Given the description of an element on the screen output the (x, y) to click on. 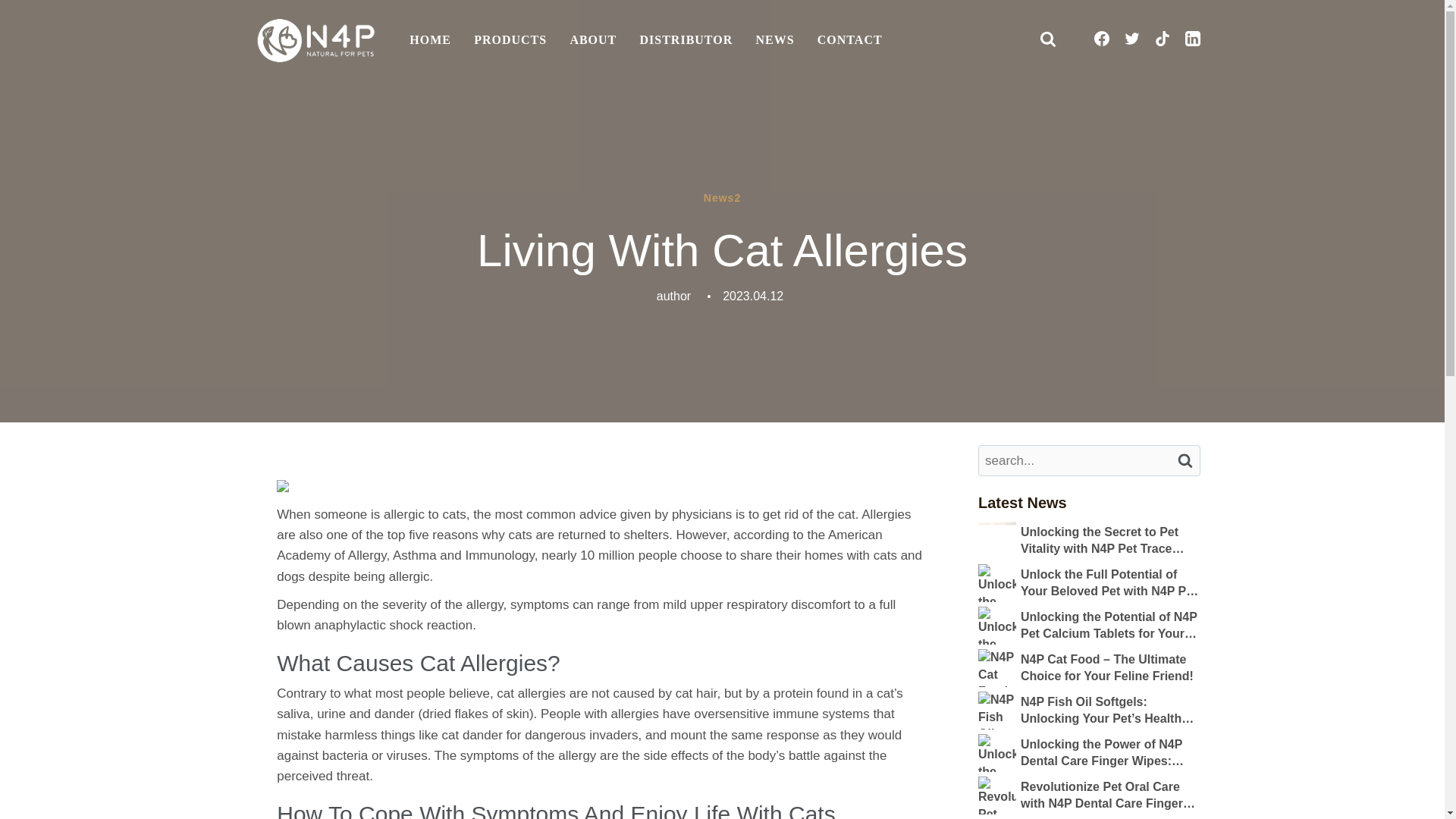
HOME (430, 40)
NEWS (774, 40)
News2 (722, 198)
ABOUT (592, 40)
DISTRIBUTOR (685, 40)
CONTACT (849, 40)
